Given the description of an element on the screen output the (x, y) to click on. 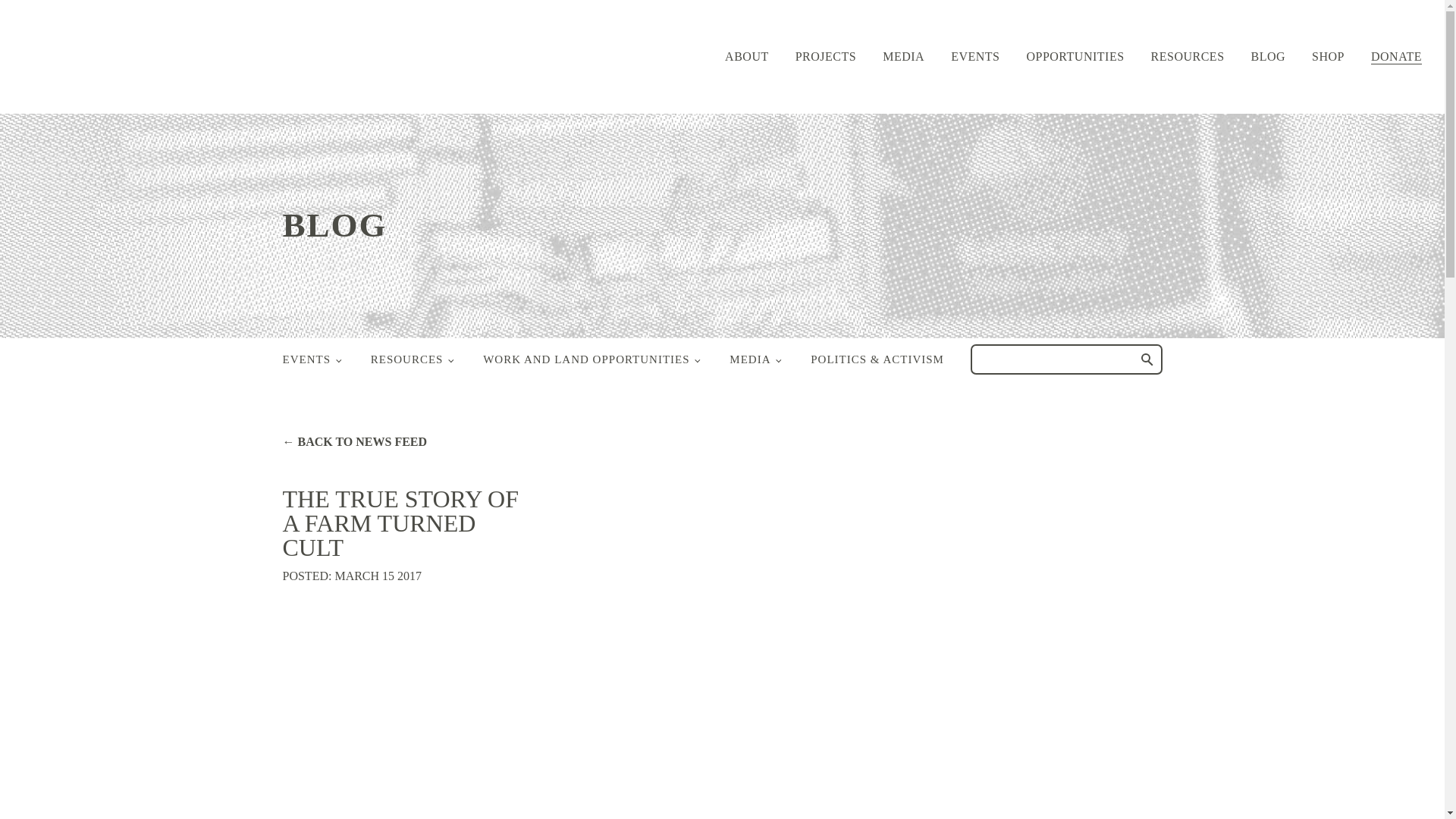
OPPORTUNITIES (1075, 56)
ABOUT (746, 56)
PROJECTS (825, 56)
EVENTS (974, 56)
BLOG (1267, 56)
RESOURCES (1187, 56)
MEDIA (903, 56)
